Given the description of an element on the screen output the (x, y) to click on. 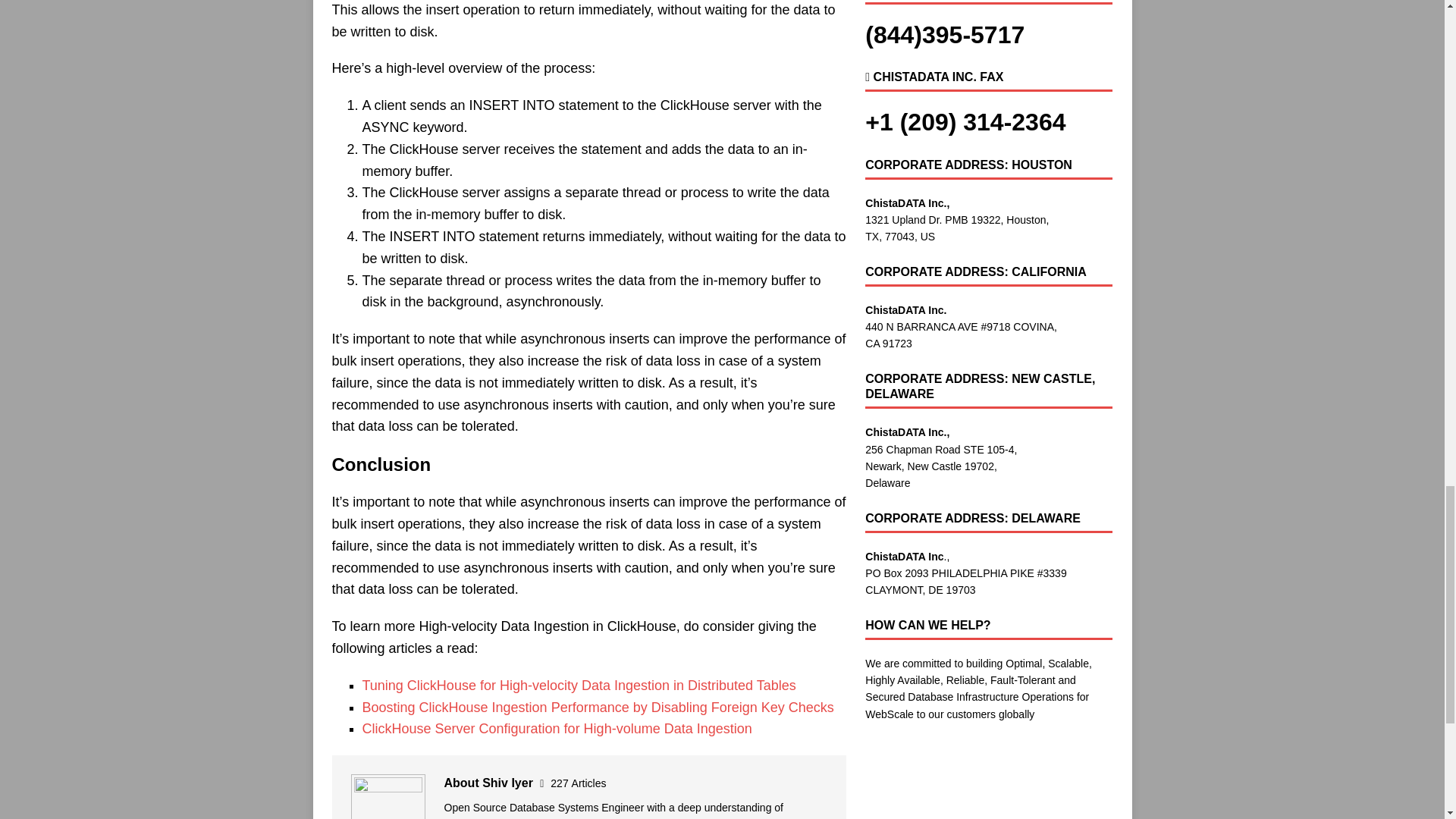
More articles written by Shiv Iyer' (577, 783)
